Given the description of an element on the screen output the (x, y) to click on. 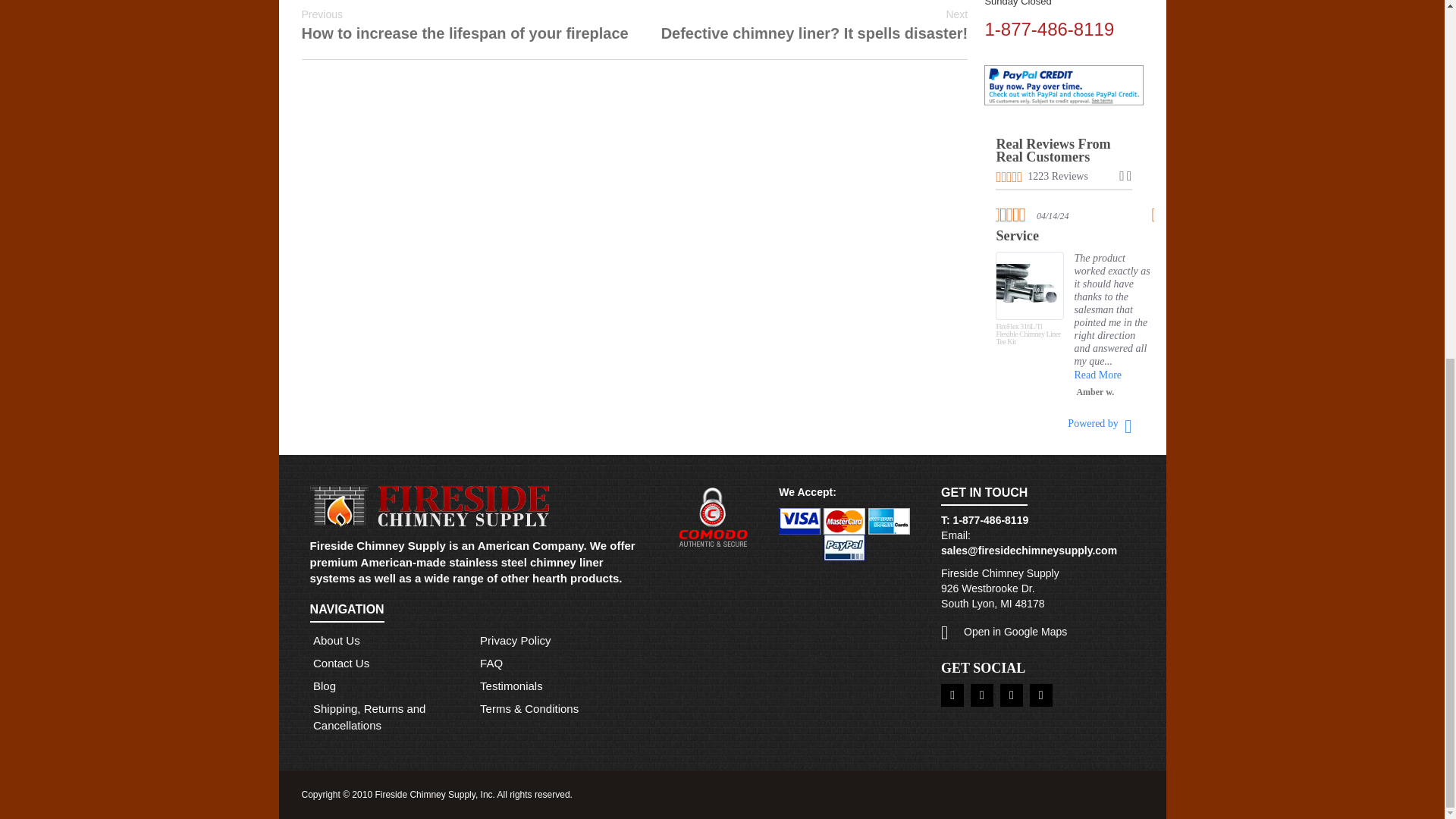
Read Defective chimney liner? It spells disaster! (814, 26)
Read How to increase the lifespan of your fireplace (464, 26)
Join us on Facebook (951, 694)
